Given the description of an element on the screen output the (x, y) to click on. 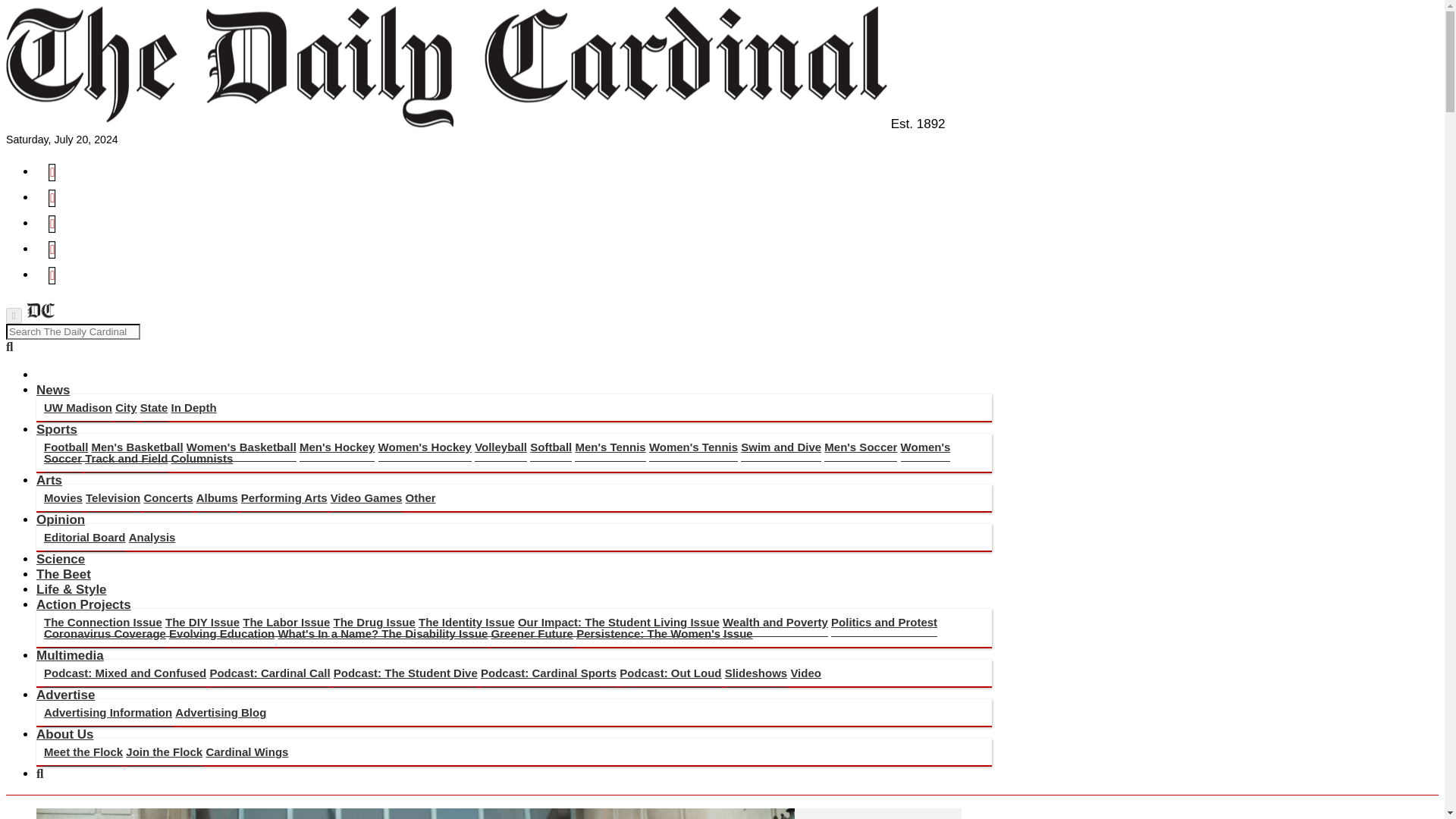
Men's Soccer (860, 447)
Television (112, 498)
Football (65, 447)
UW Madison (77, 407)
News (52, 390)
Volleyball (500, 447)
Men's Tennis (610, 447)
Track and Field (125, 458)
Movies (62, 498)
Video Games (366, 498)
Albums (217, 498)
Arts (49, 480)
Swim and Dive (781, 447)
Columnists (201, 458)
Sports (56, 429)
